Given the description of an element on the screen output the (x, y) to click on. 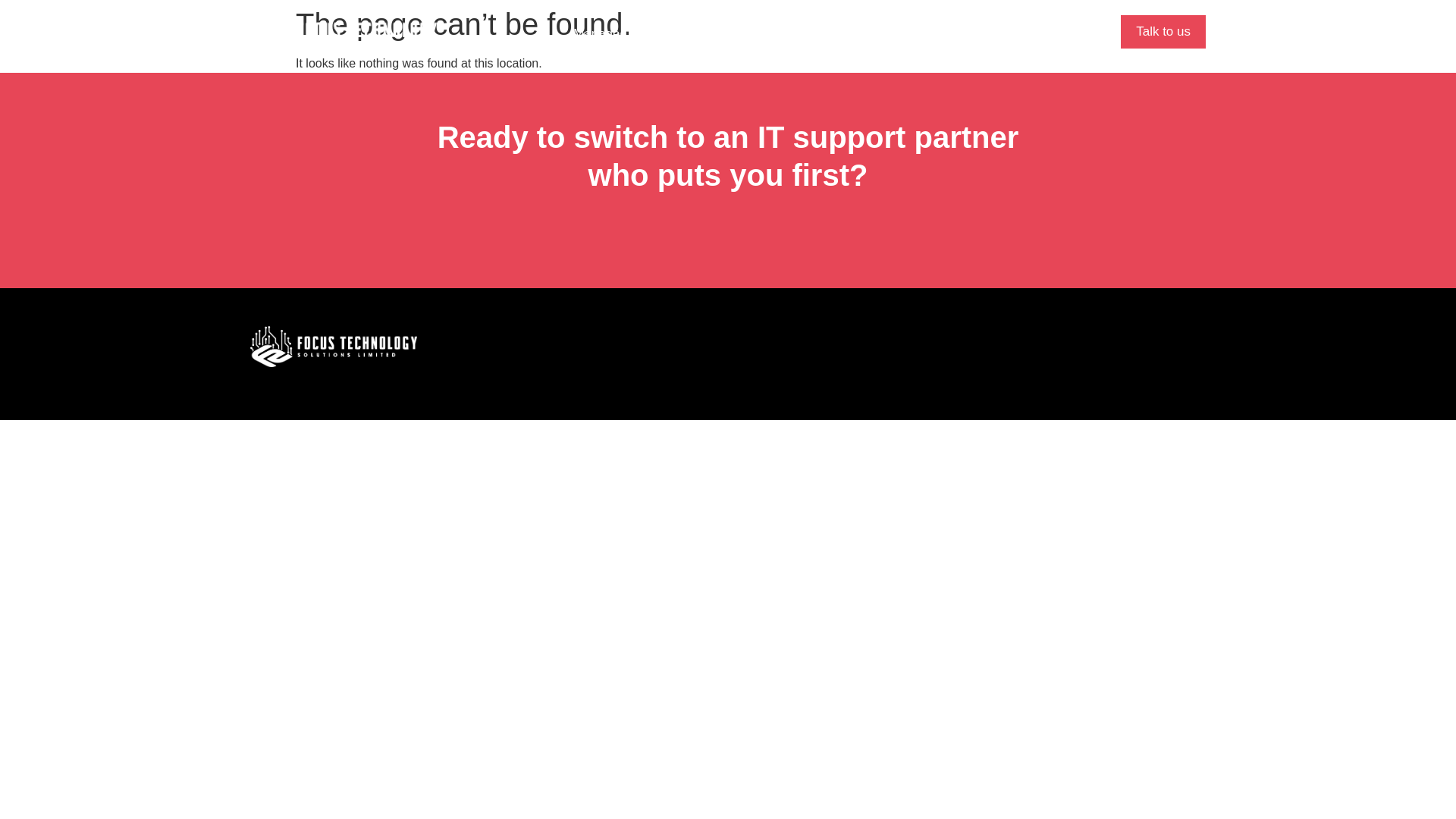
Talk to us (1163, 31)
01942 835 912 (1024, 34)
Managed IT Services (633, 34)
Learning Hub (847, 34)
About Us (751, 34)
